Given the description of an element on the screen output the (x, y) to click on. 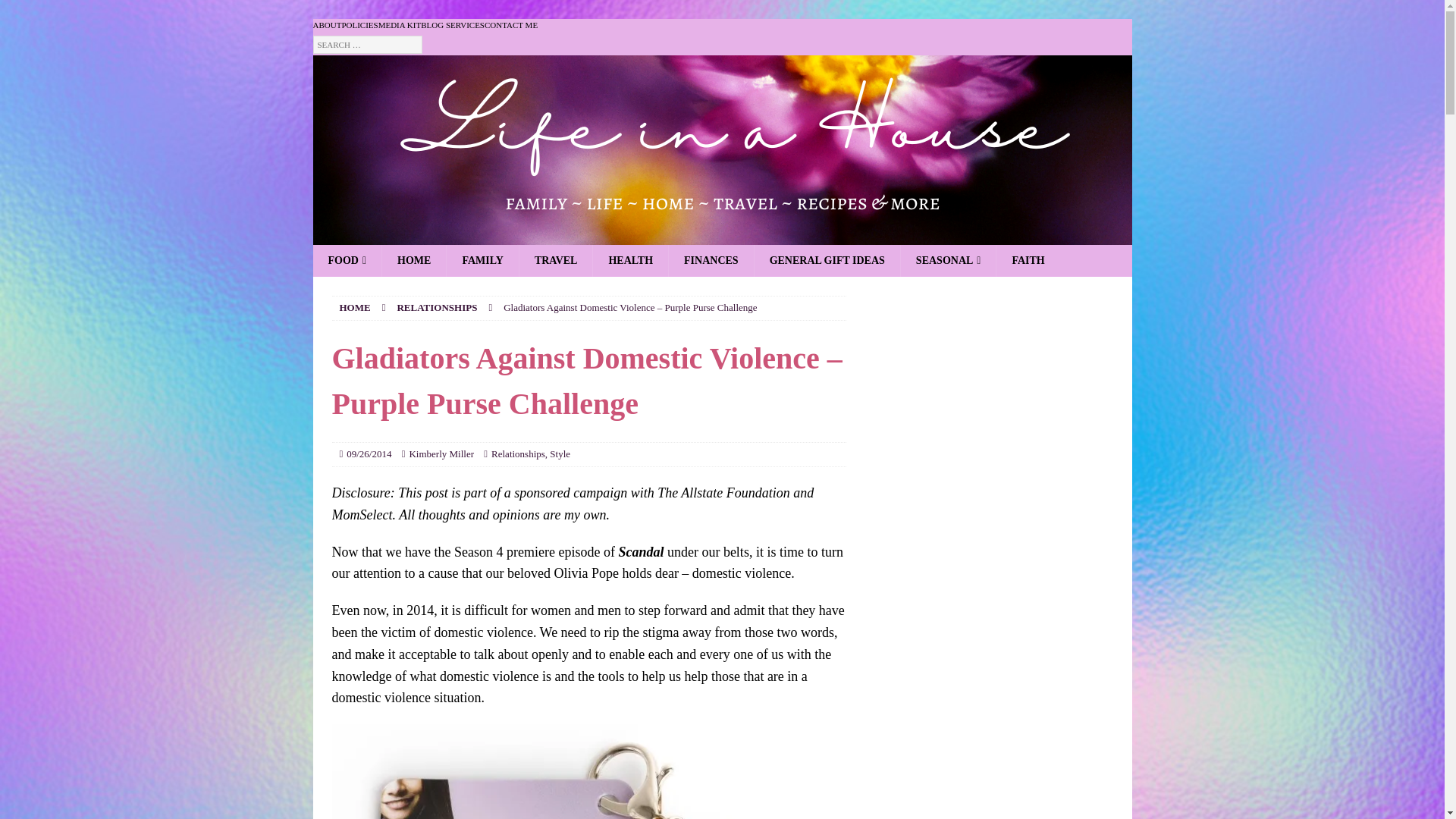
CONTACT ME (510, 25)
TRAVEL (555, 260)
Empowerment is Always in Style (588, 771)
HOME (355, 307)
POLICIES (358, 25)
Life in a House (722, 232)
BLOG SERVICES (452, 25)
FOOD (347, 260)
SEASONAL (947, 260)
FINANCES (711, 260)
